Given the description of an element on the screen output the (x, y) to click on. 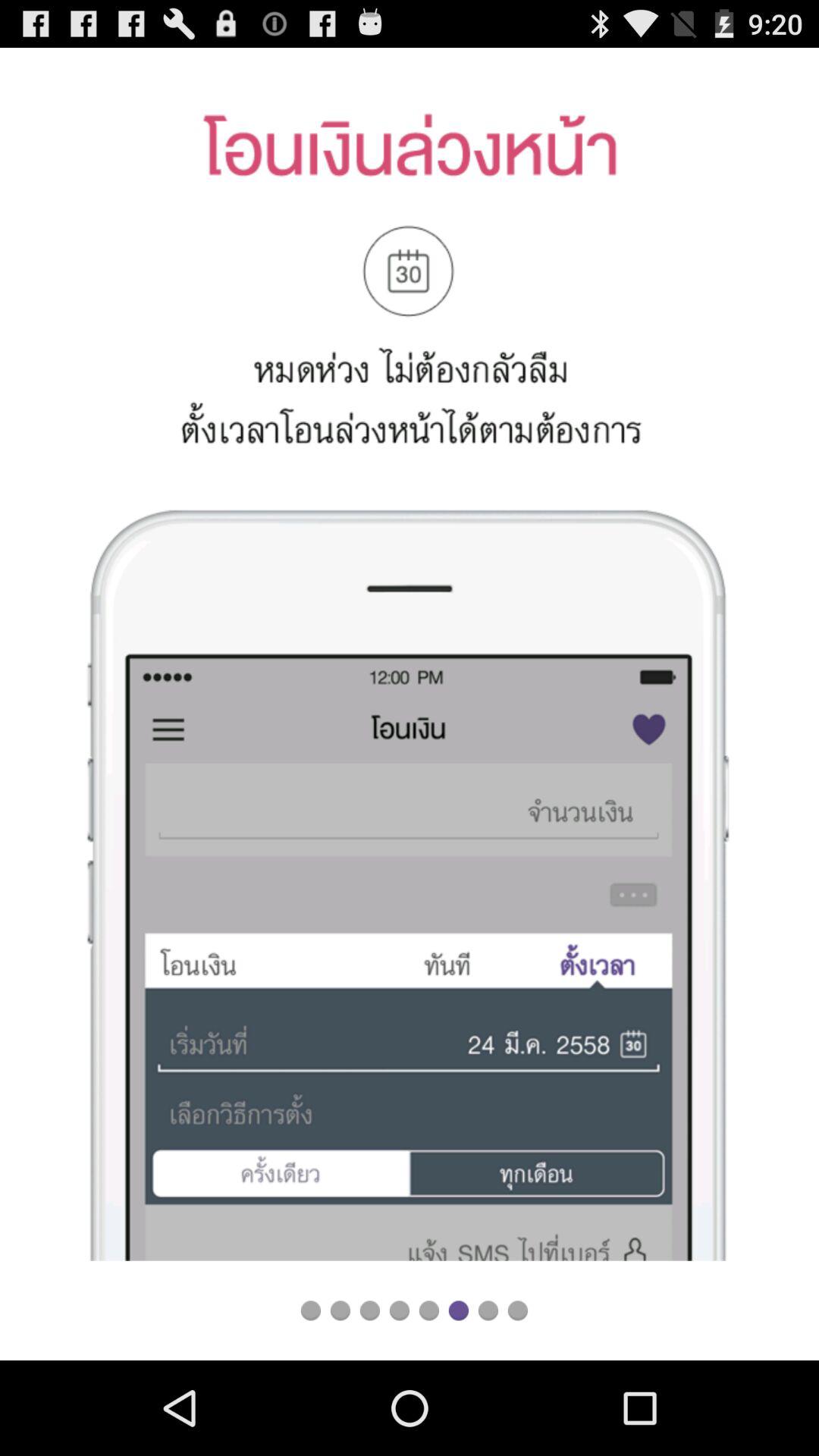
switch to slide first option (310, 1310)
